Given the description of an element on the screen output the (x, y) to click on. 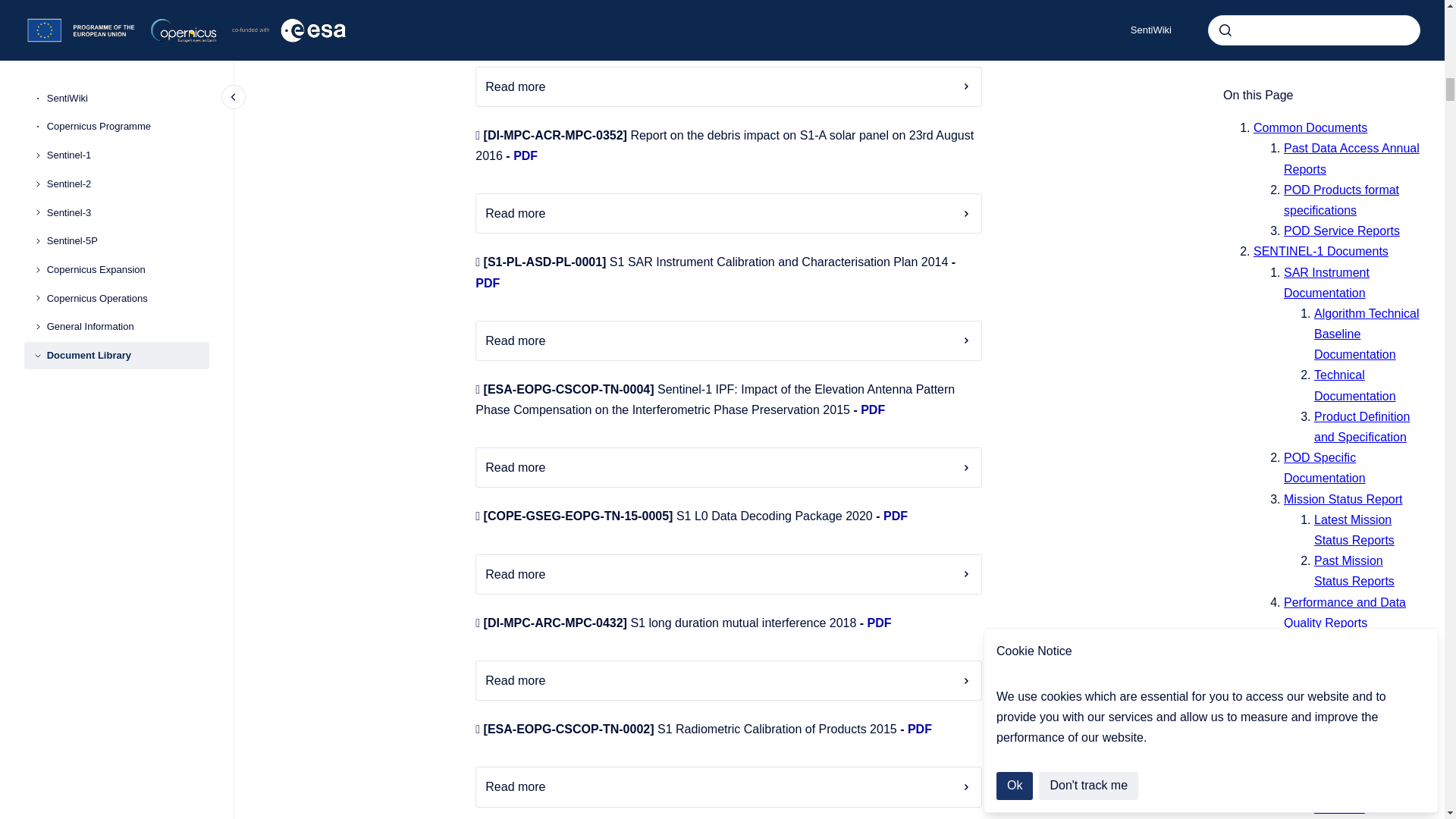
Copy to clipboard (468, 6)
